Given the description of an element on the screen output the (x, y) to click on. 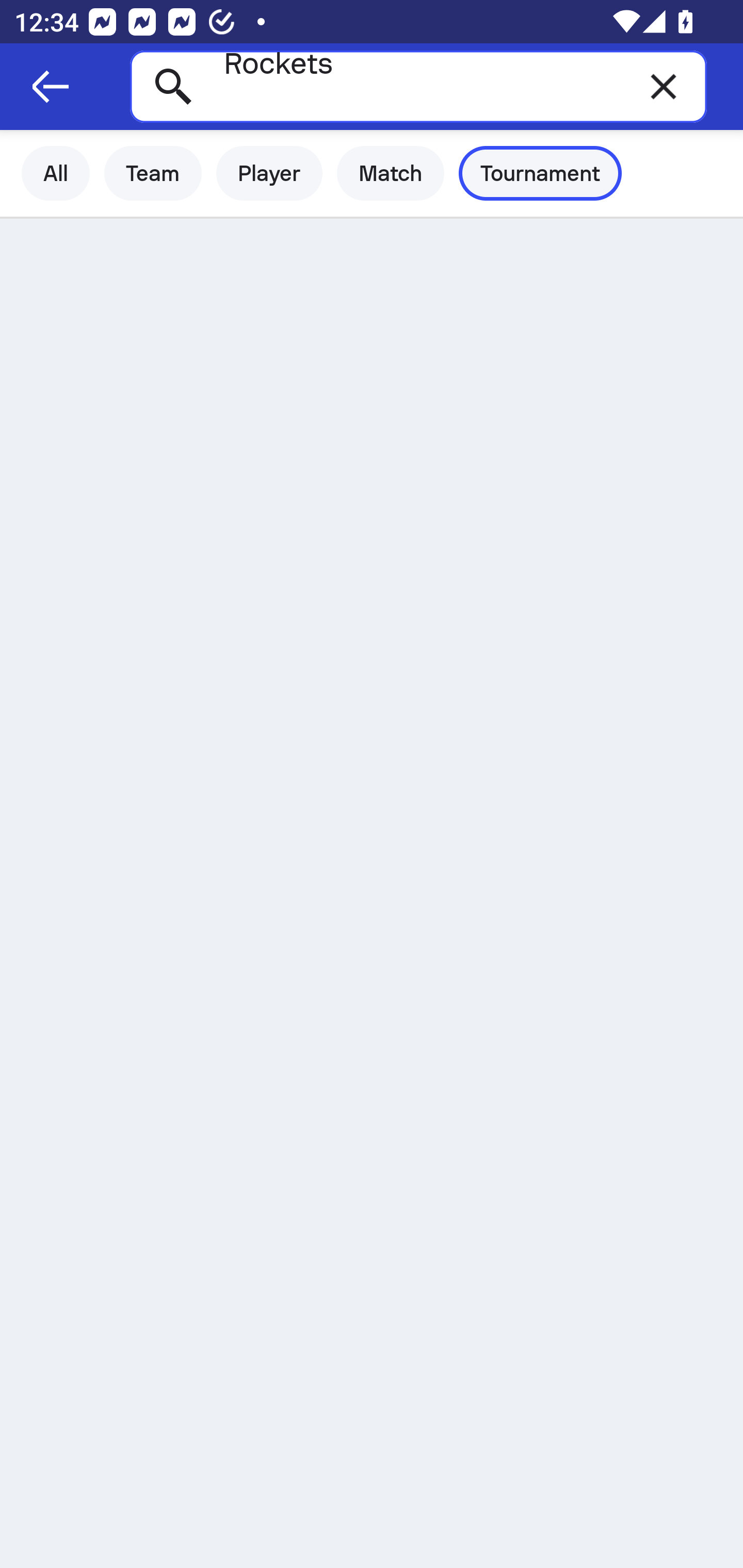
Navigate up (50, 86)
Rockets
 (418, 86)
Clear text (663, 86)
All (55, 172)
Team (152, 172)
Player (268, 172)
Match (390, 172)
Tournament (540, 172)
